Given the description of an element on the screen output the (x, y) to click on. 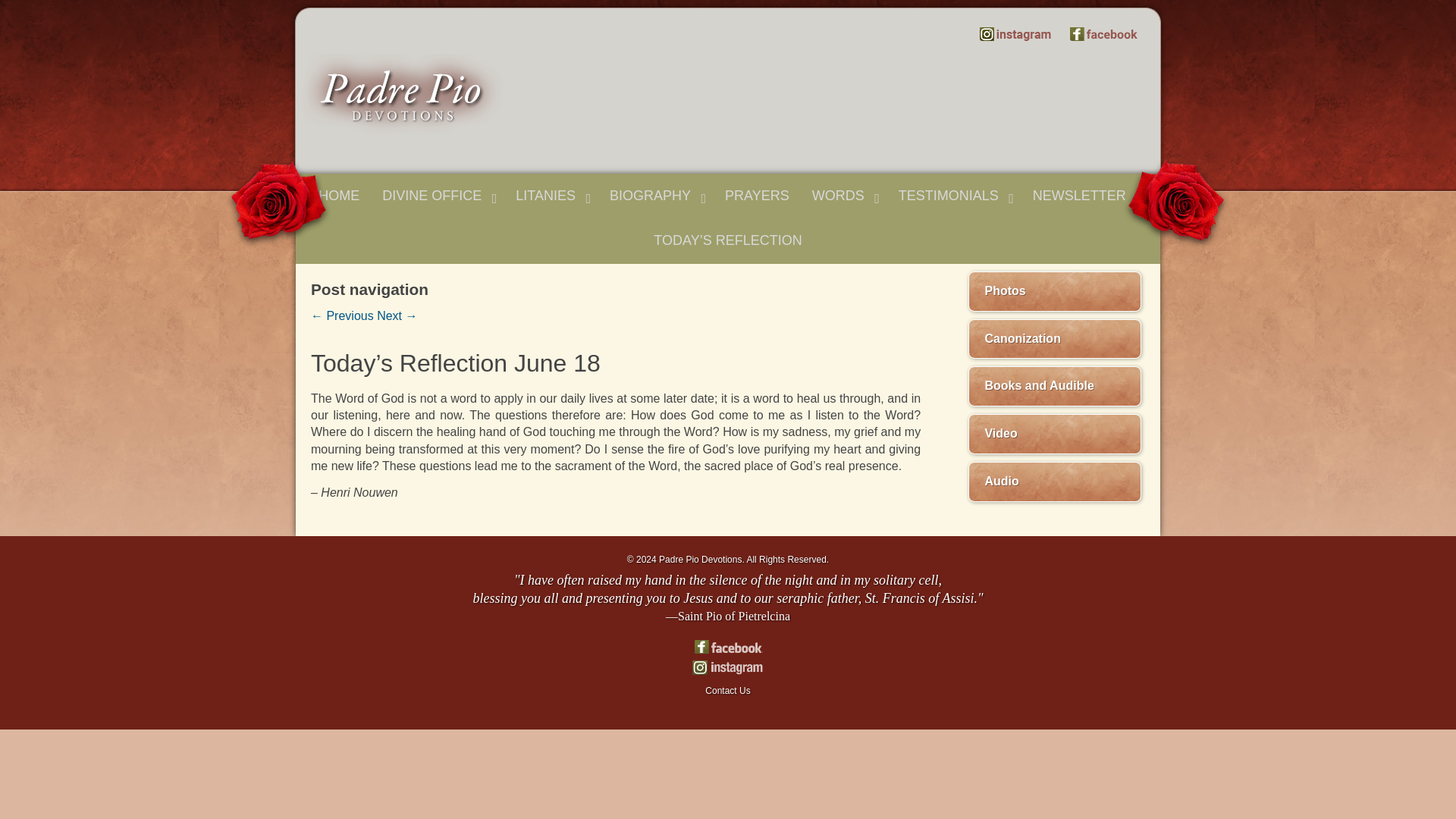
WORDS (843, 195)
NEWSLETTER (1085, 195)
Canonization (1054, 339)
BIOGRAPHY (655, 195)
facebook (727, 646)
Photos (1054, 291)
HOME (339, 195)
TESTIMONIALS (954, 195)
LITANIES (550, 195)
DIVINE OFFICE (437, 195)
PRAYERS (756, 195)
